Given the description of an element on the screen output the (x, y) to click on. 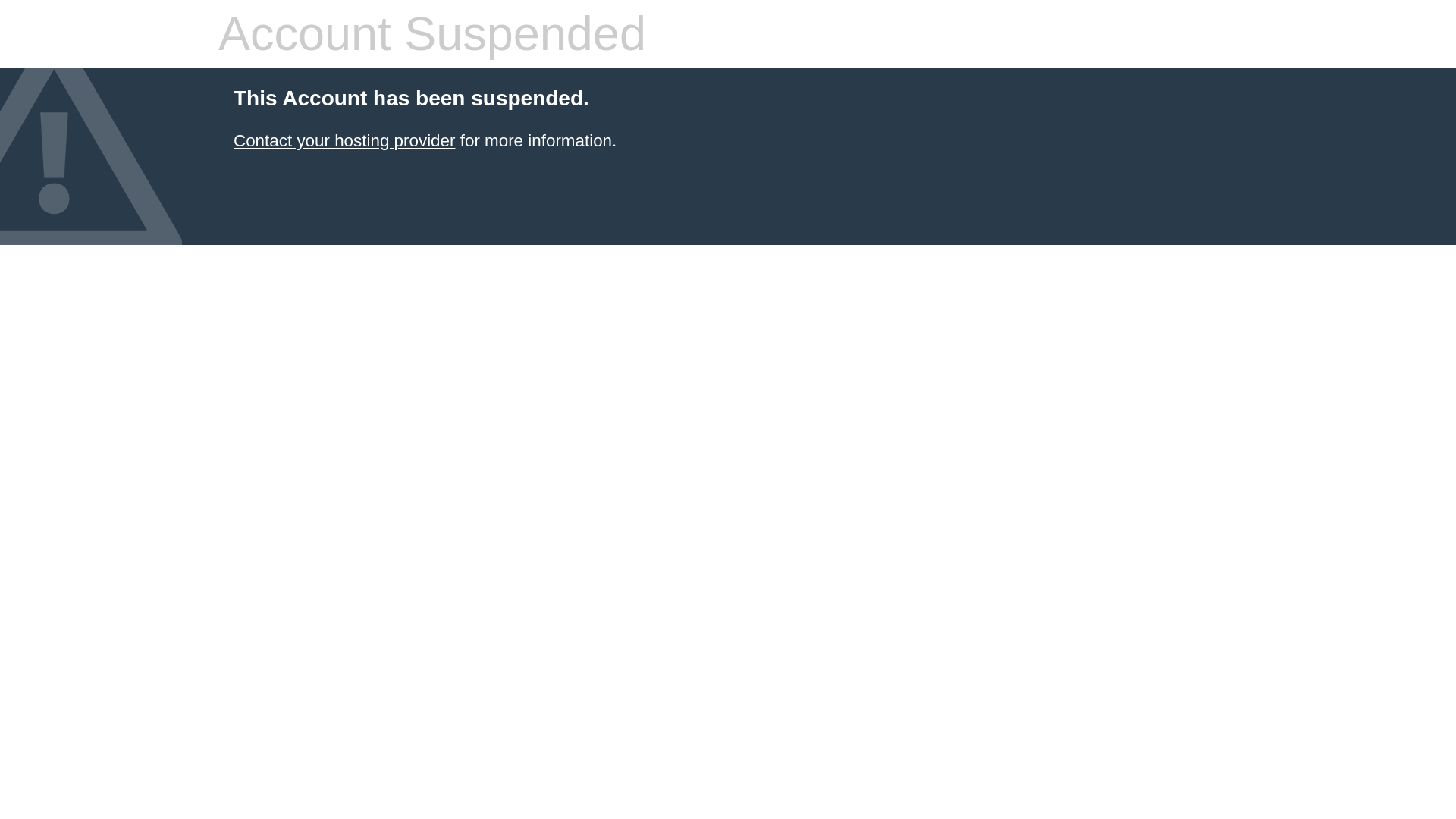
Contact your hosting provider (343, 140)
